Given the description of an element on the screen output the (x, y) to click on. 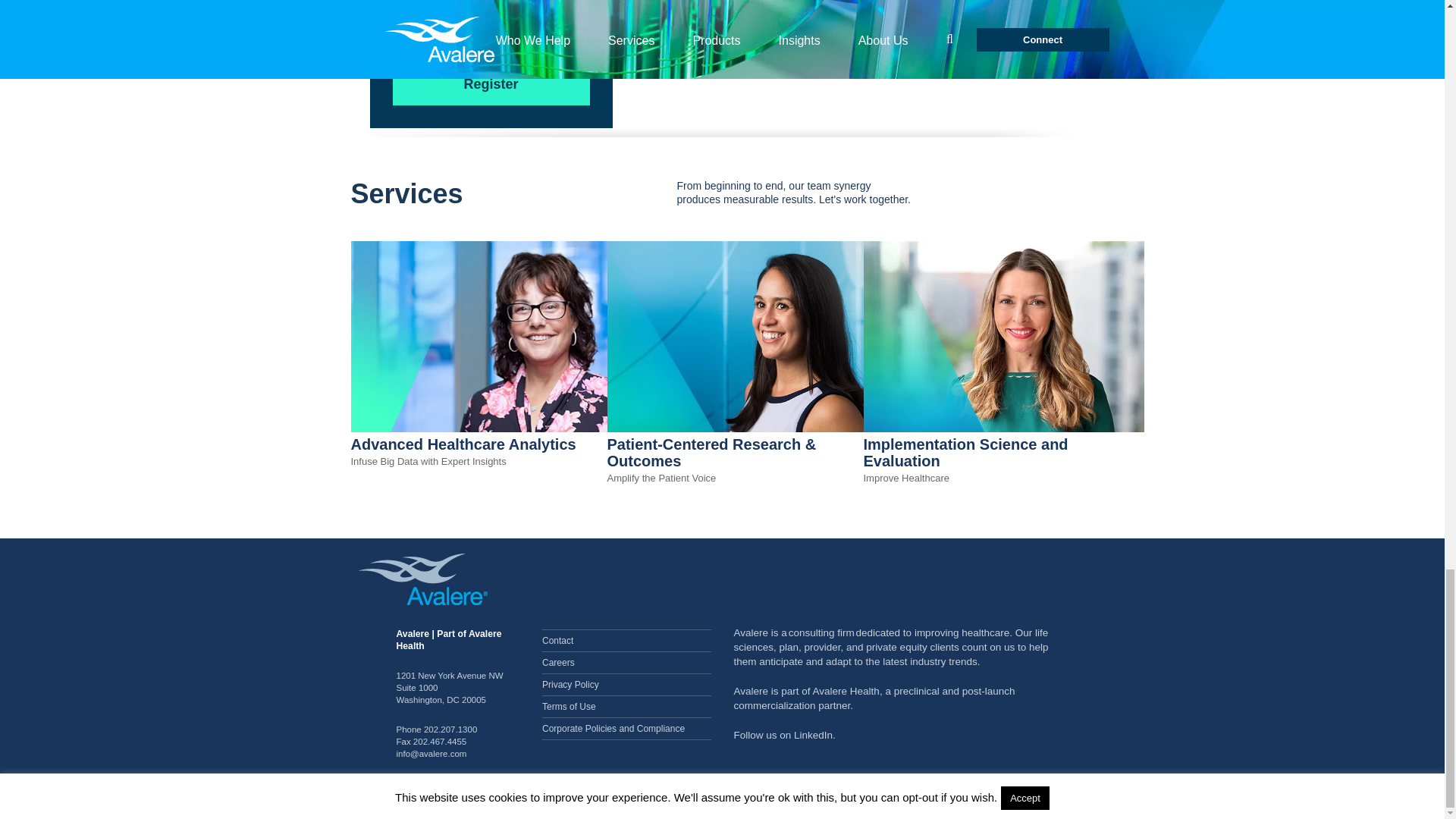
Advanced Healthcare Analytics (490, 428)
Implementation Science and Evaluation (1002, 428)
